Given the description of an element on the screen output the (x, y) to click on. 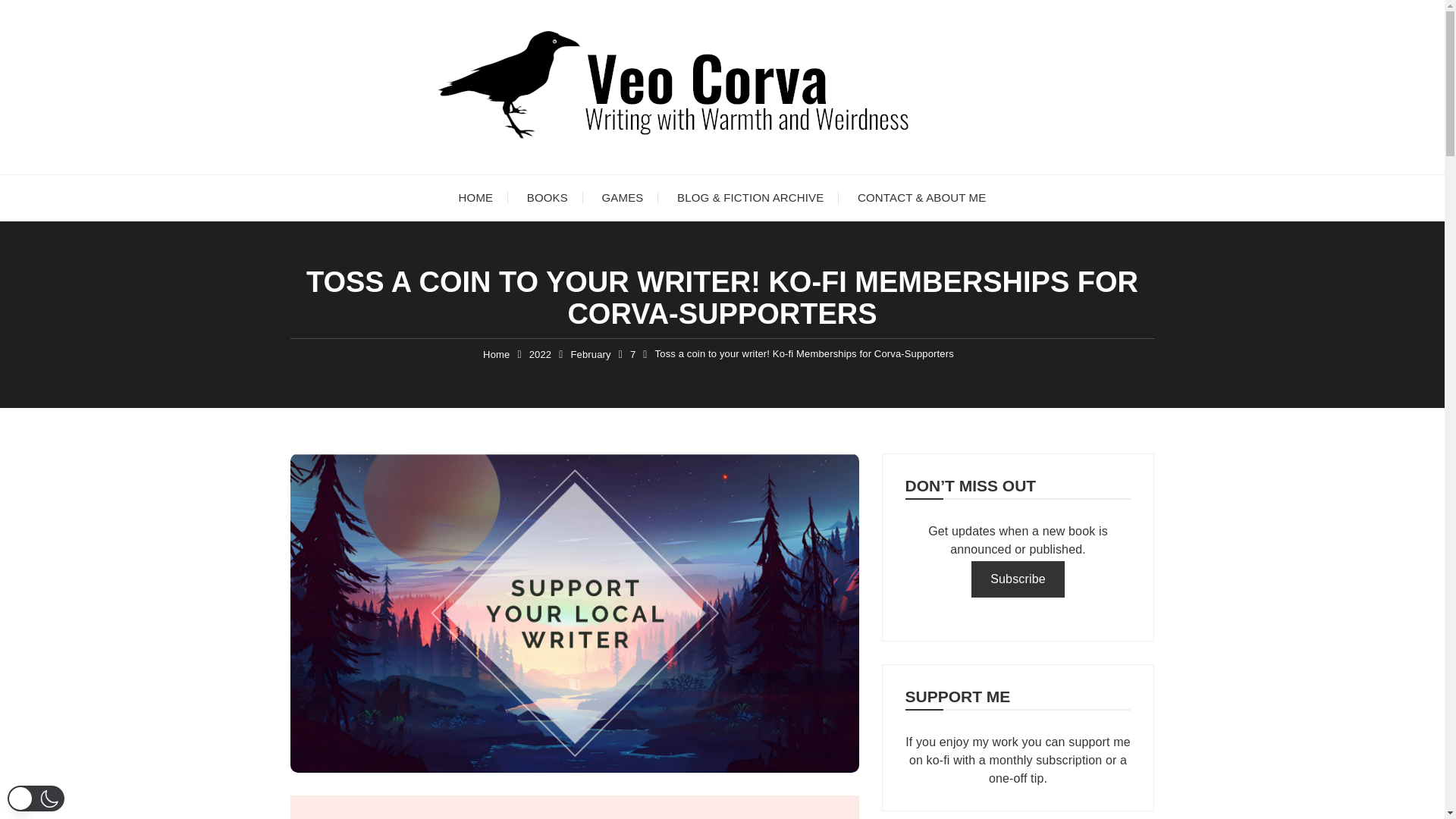
HOME (476, 197)
Subscribe (1017, 579)
2022 (540, 354)
February (590, 354)
Home (496, 354)
Subscribe (1017, 579)
BOOKS (547, 197)
GAMES (622, 197)
